Given the description of an element on the screen output the (x, y) to click on. 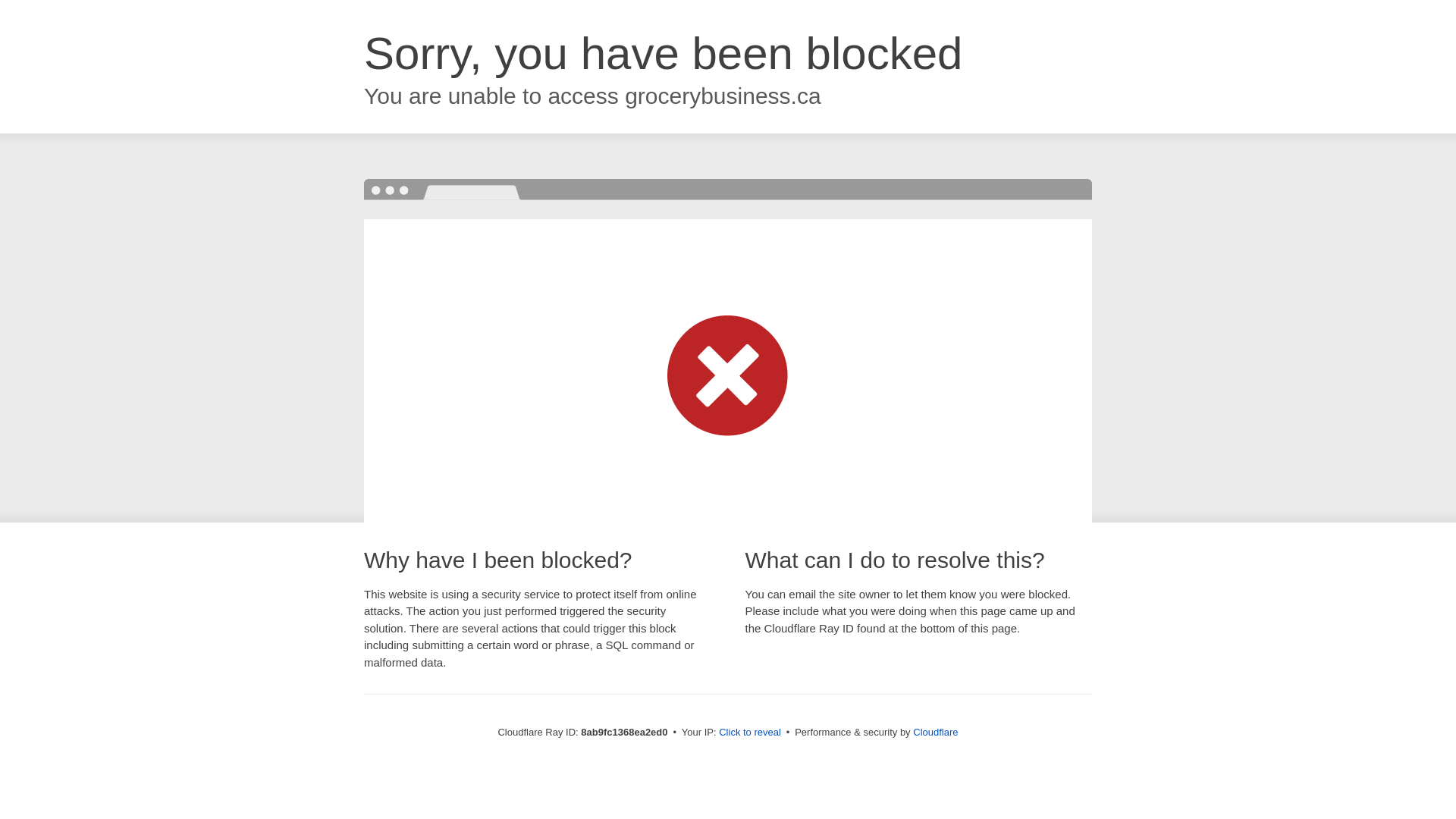
Cloudflare (935, 731)
Click to reveal (749, 732)
